Given the description of an element on the screen output the (x, y) to click on. 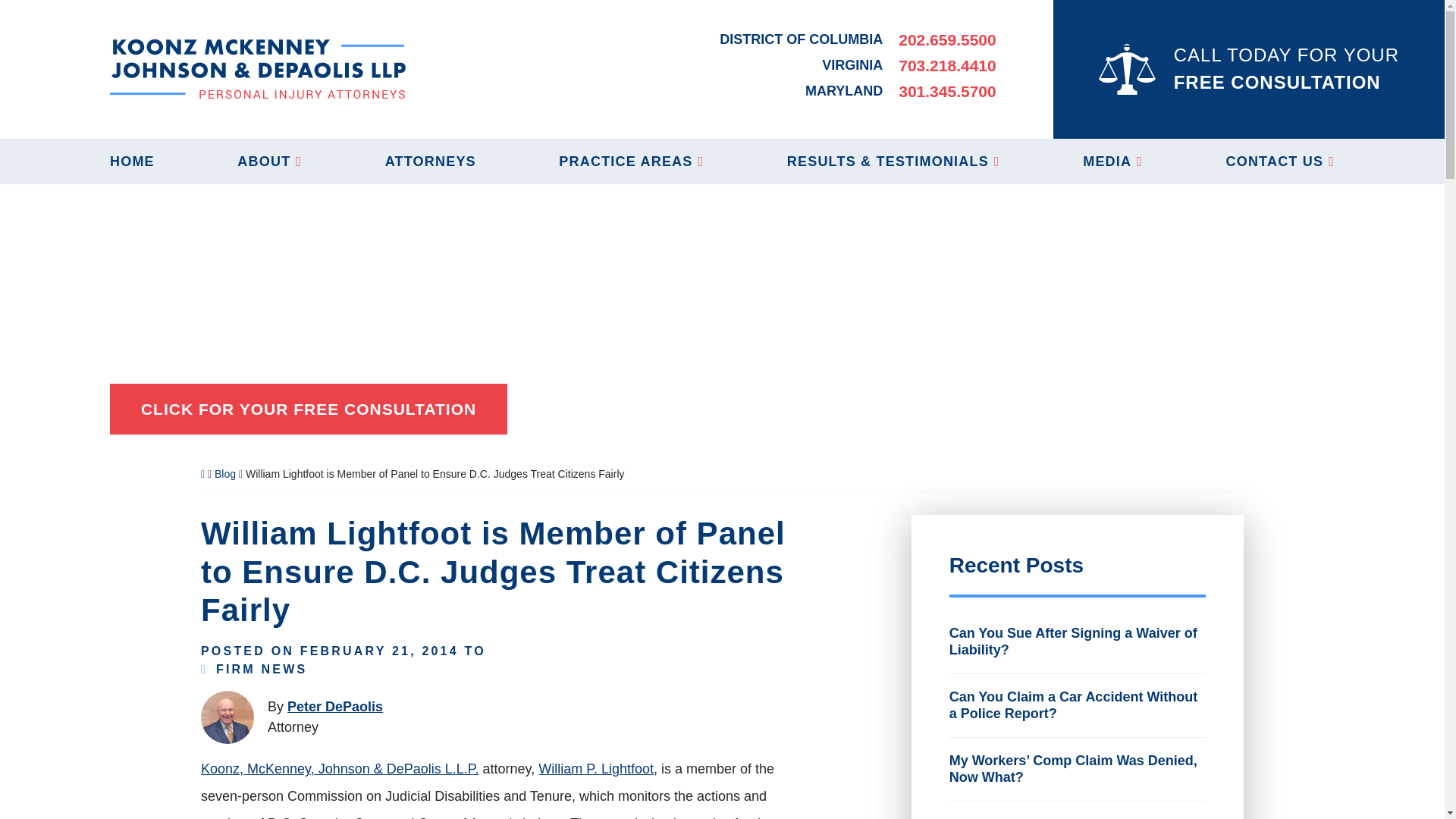
Link to firm overview (339, 768)
Blog (224, 473)
MEDIA (1113, 161)
FEBRUARY 21, 2014 (378, 650)
ATTORNEYS (430, 161)
HOME (132, 161)
Link to meet William P. Lightfoot (595, 768)
ABOUT (269, 161)
Peter DePaolis (334, 706)
301.345.5700 (946, 90)
